Given the description of an element on the screen output the (x, y) to click on. 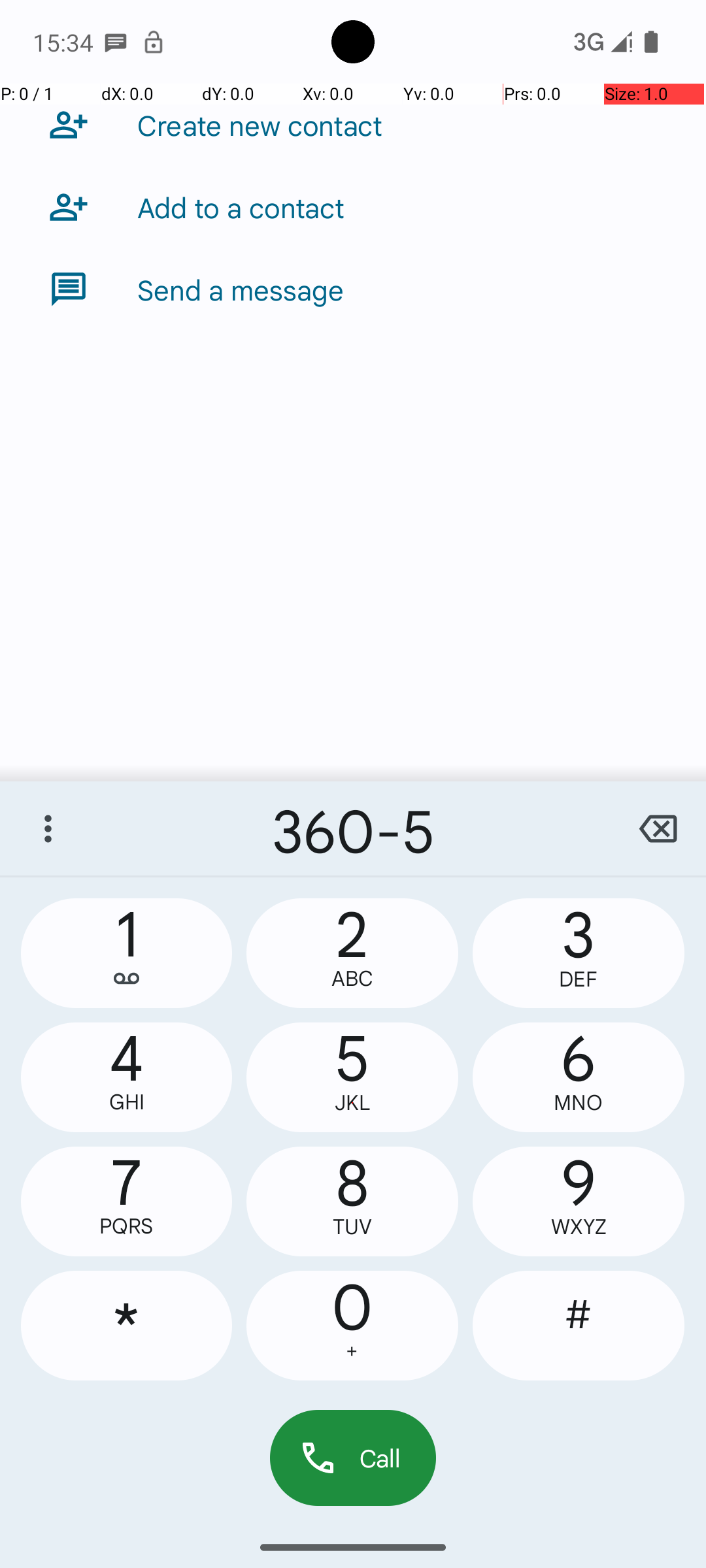
360-5 Element type: android.widget.EditText (352, 828)
